Given the description of an element on the screen output the (x, y) to click on. 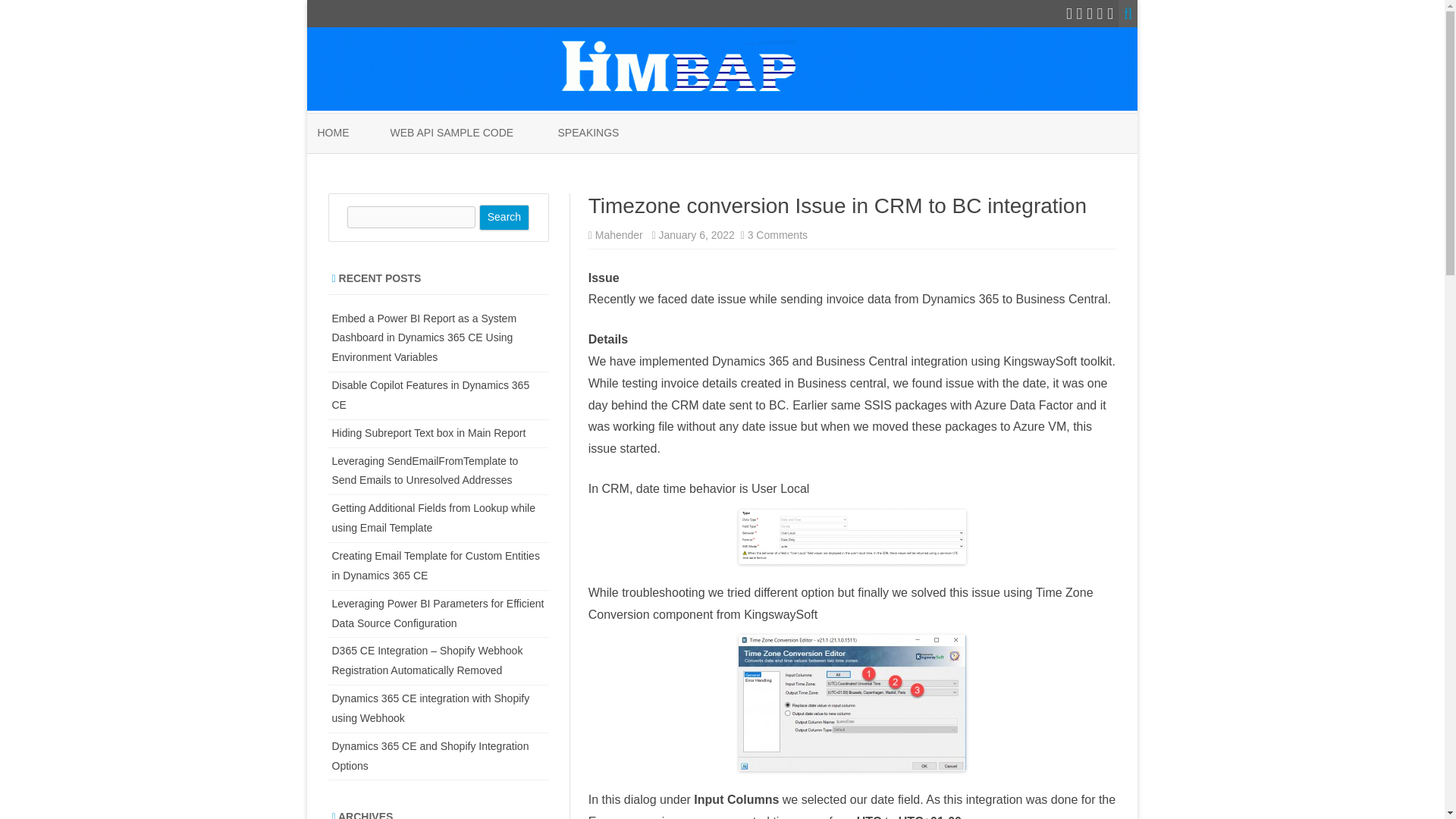
Mahender (619, 234)
Search (504, 217)
SPEAKINGS (588, 133)
WEB API SAMPLE CODE (451, 133)
